Given the description of an element on the screen output the (x, y) to click on. 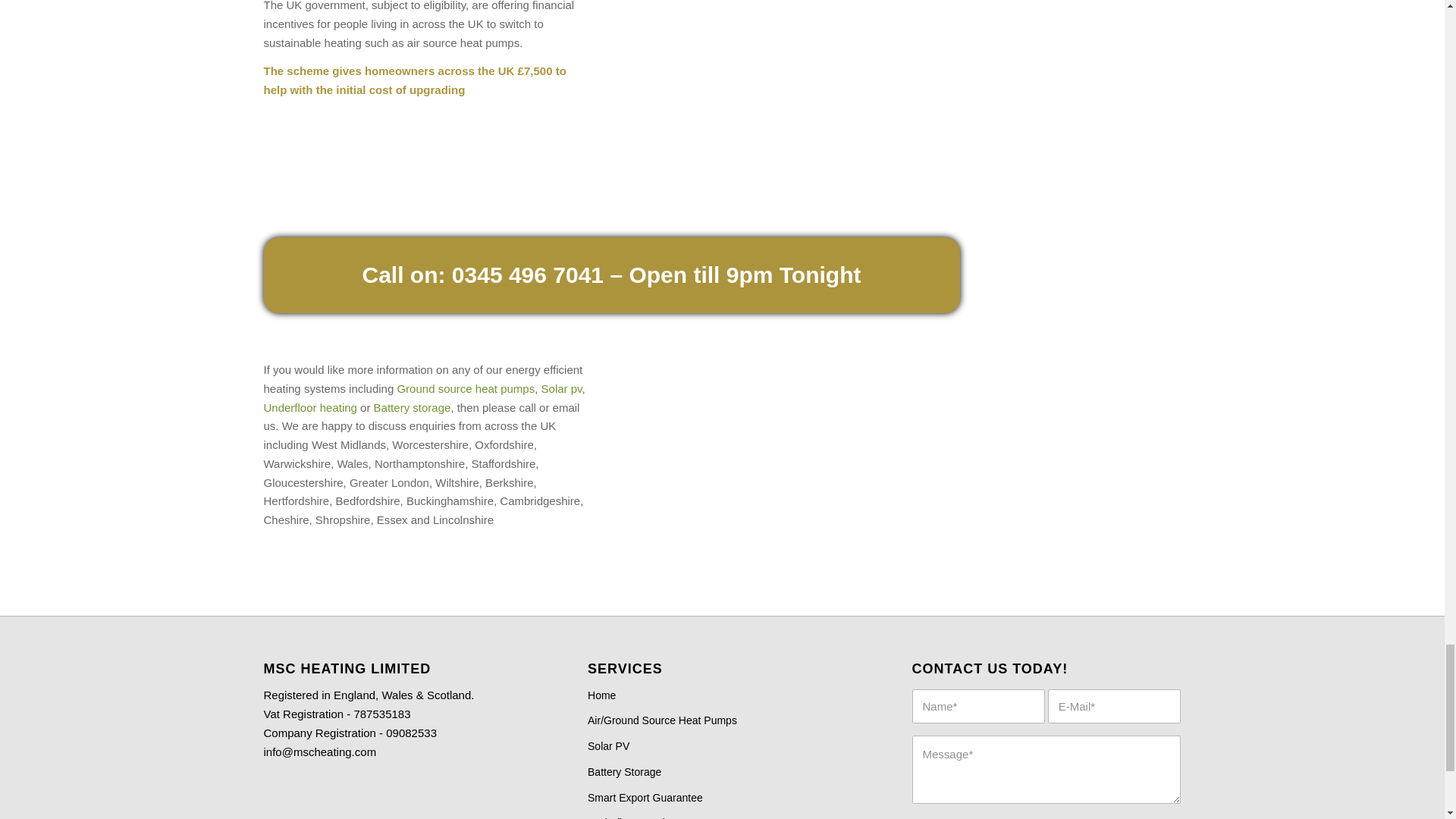
Battery storage (412, 407)
Underfloor heating (309, 407)
Solar pv (561, 388)
Ground source heat pumps (465, 388)
